Given the description of an element on the screen output the (x, y) to click on. 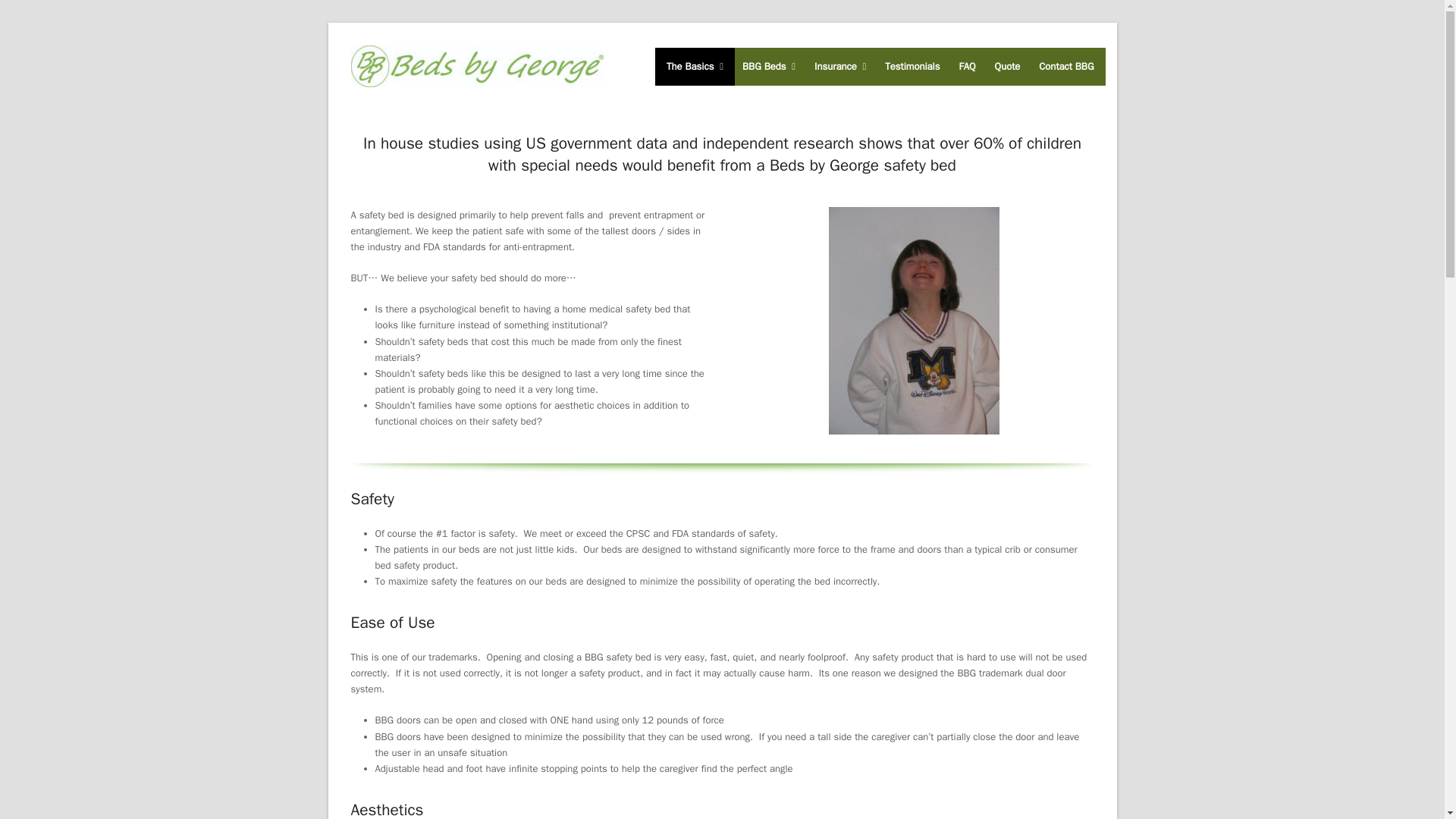
FAQ (967, 65)
The Basics (695, 65)
Quote (1008, 65)
Insurance (840, 65)
Contact BBG (1066, 65)
BBG Beds (768, 65)
Testimonials (911, 65)
